Given the description of an element on the screen output the (x, y) to click on. 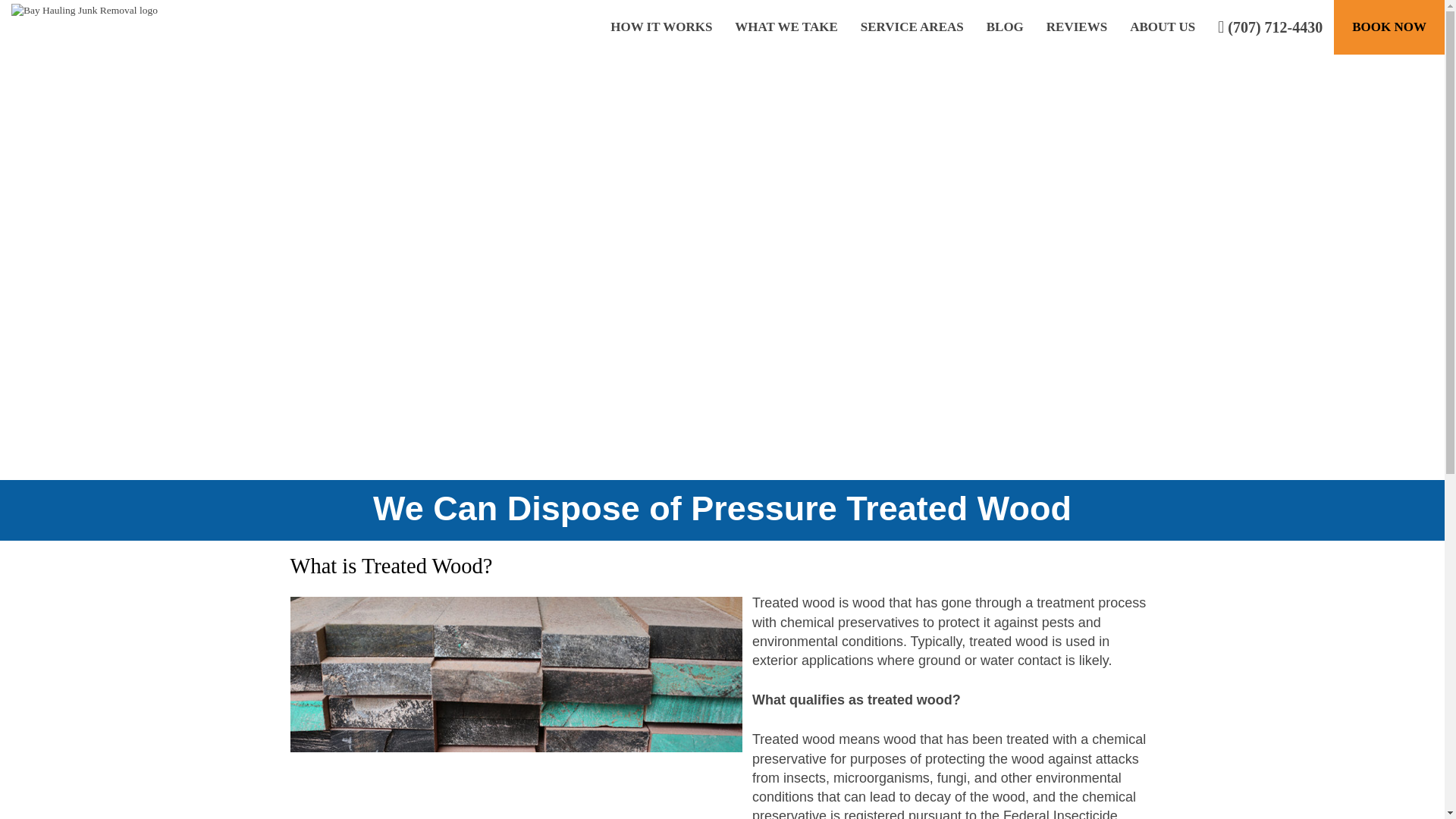
WHAT WE TAKE (786, 27)
SERVICE AREAS (911, 27)
HOW IT WORKS (660, 27)
